Given the description of an element on the screen output the (x, y) to click on. 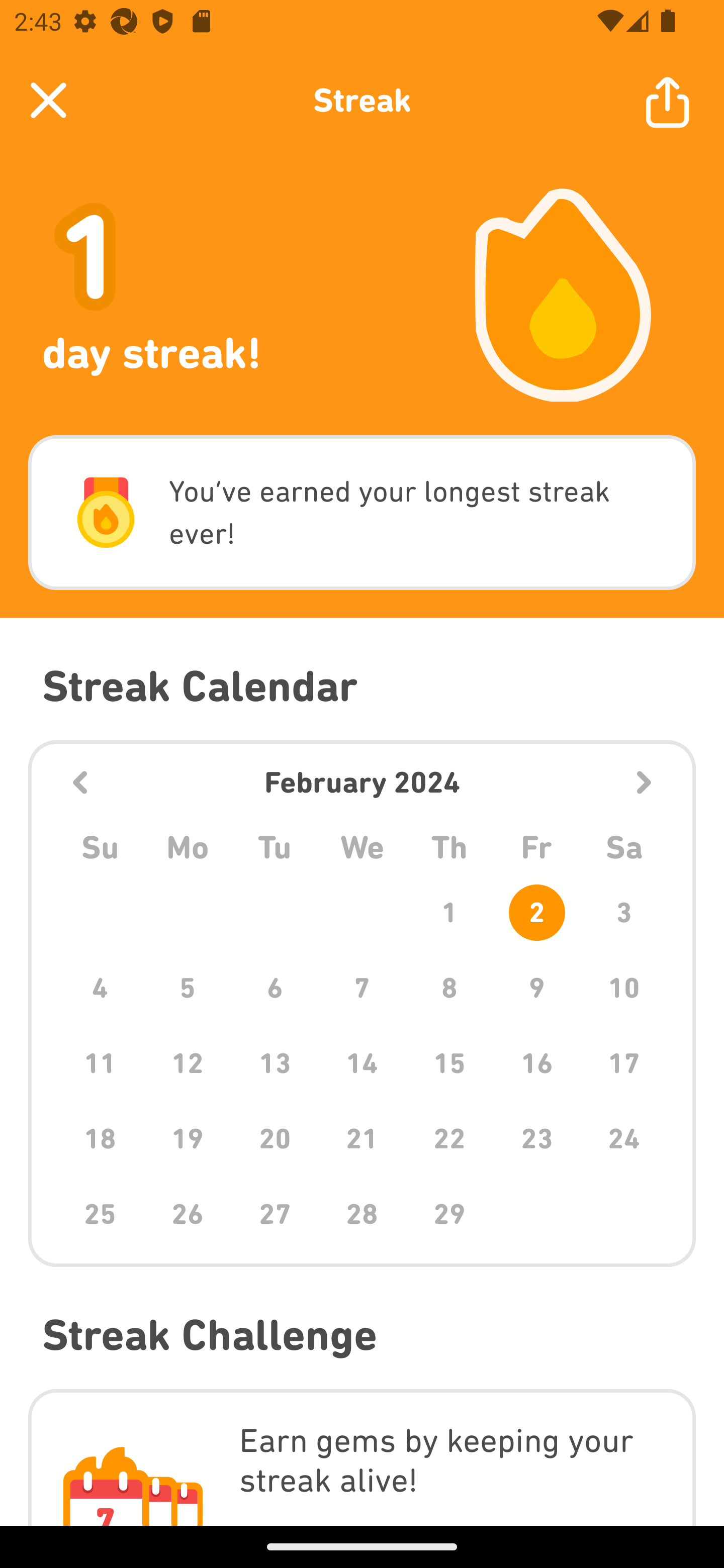
You’ve earned your longest streak ever! (361, 512)
